Given the description of an element on the screen output the (x, y) to click on. 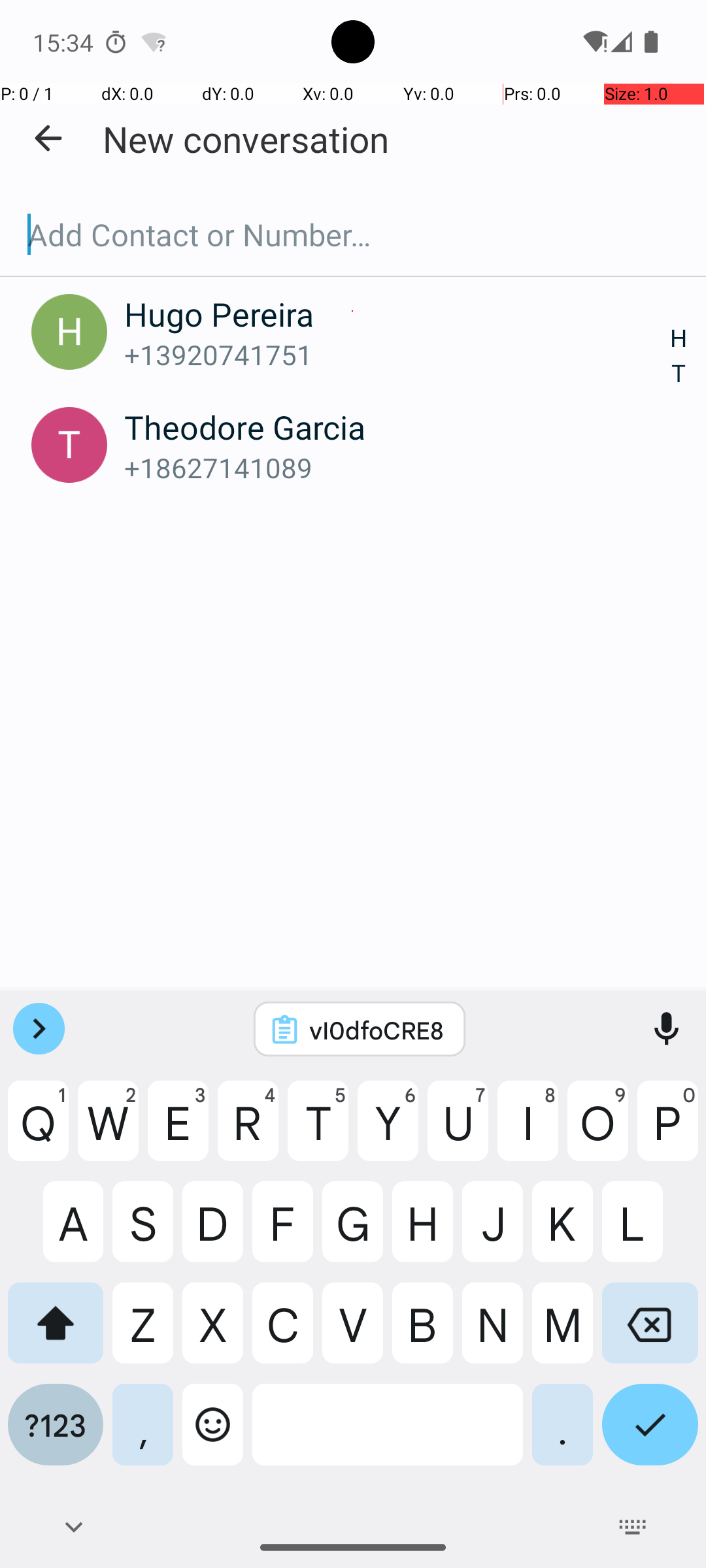
H
T Element type: android.widget.TextView (678, 356)
+13920741751 Element type: android.widget.TextView (397, 354)
Theodore Garcia Element type: android.widget.TextView (397, 426)
+18627141089 Element type: android.widget.TextView (397, 467)
vI0dfoCRE8 Element type: android.widget.TextView (376, 1029)
